Given the description of an element on the screen output the (x, y) to click on. 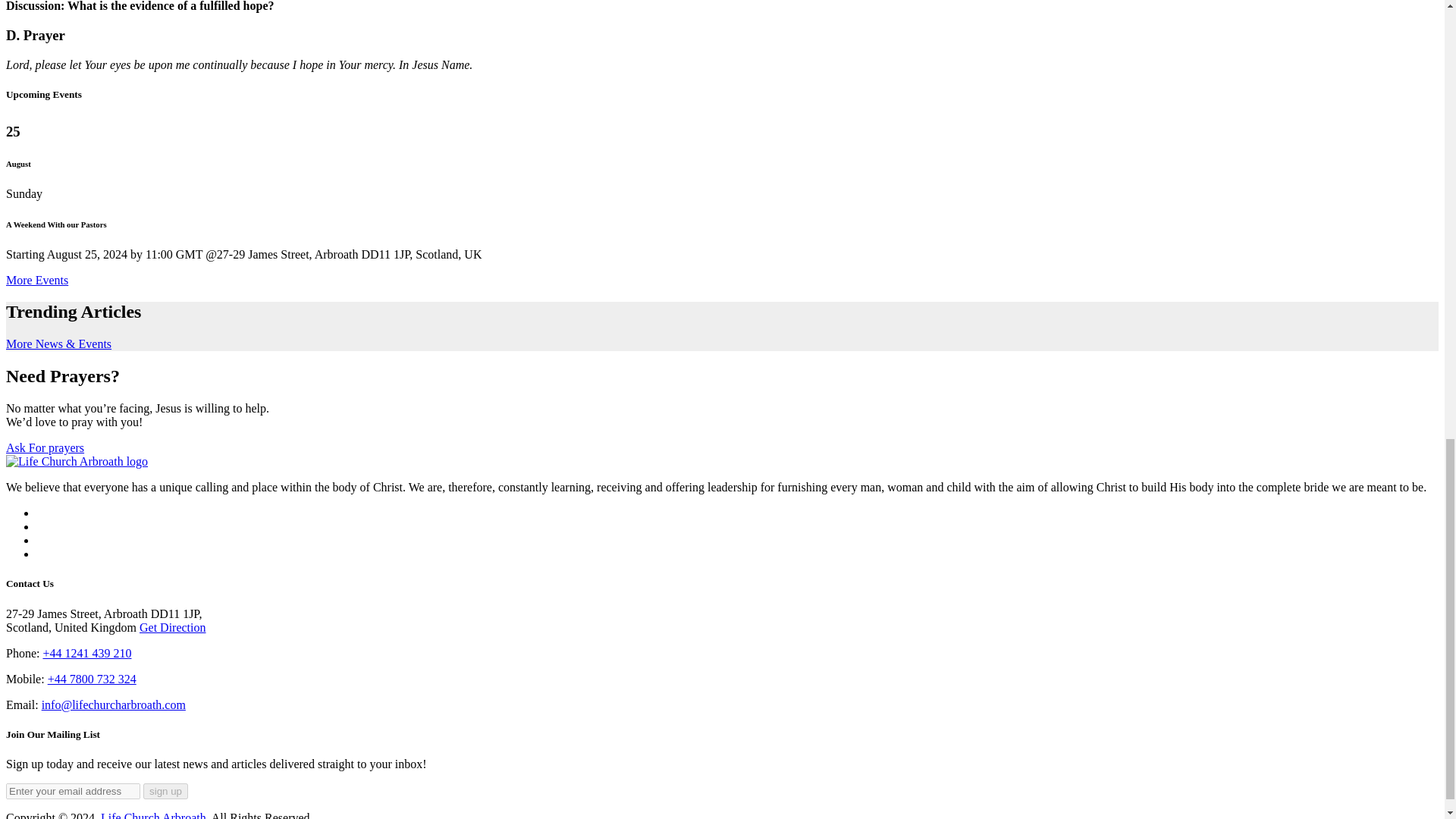
Get Direction (172, 626)
More Events (36, 279)
Ask For prayers (44, 447)
A Weekend With our Pastors (55, 224)
sign up (164, 790)
